Given the description of an element on the screen output the (x, y) to click on. 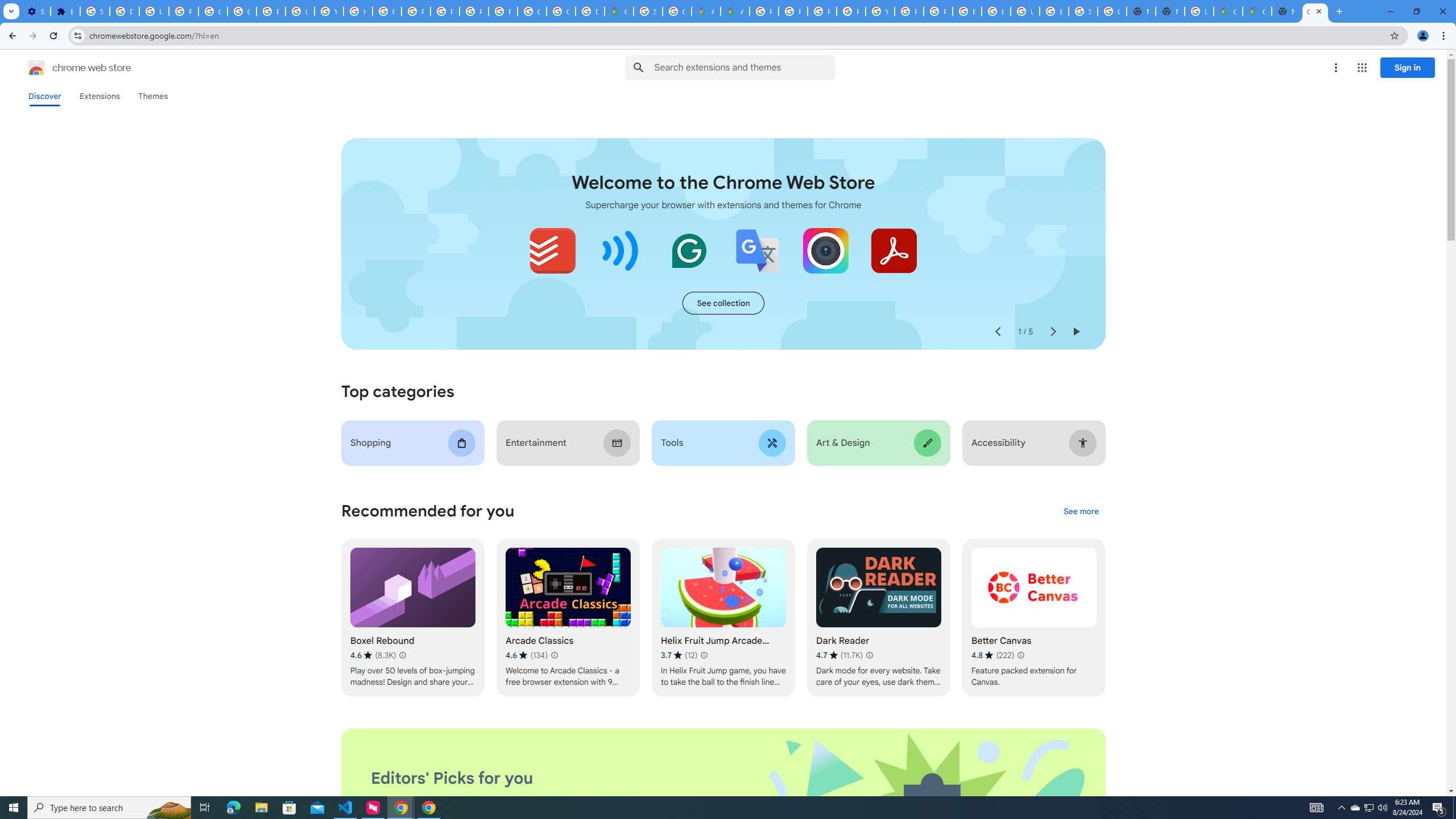
Adobe Acrobat: PDF edit, convert, sign tools (893, 250)
Learn more about results and reviews "Boxel Rebound" (402, 655)
YouTube (327, 11)
Create your Google Account (677, 11)
Sign in - Google Accounts (648, 11)
Previous slide (997, 331)
Grammarly: AI Writing and Grammar Checker App (689, 250)
Google Maps (619, 11)
Settings - On startup (35, 11)
Chrome Web Store logo chrome web store (67, 67)
